Given the description of an element on the screen output the (x, y) to click on. 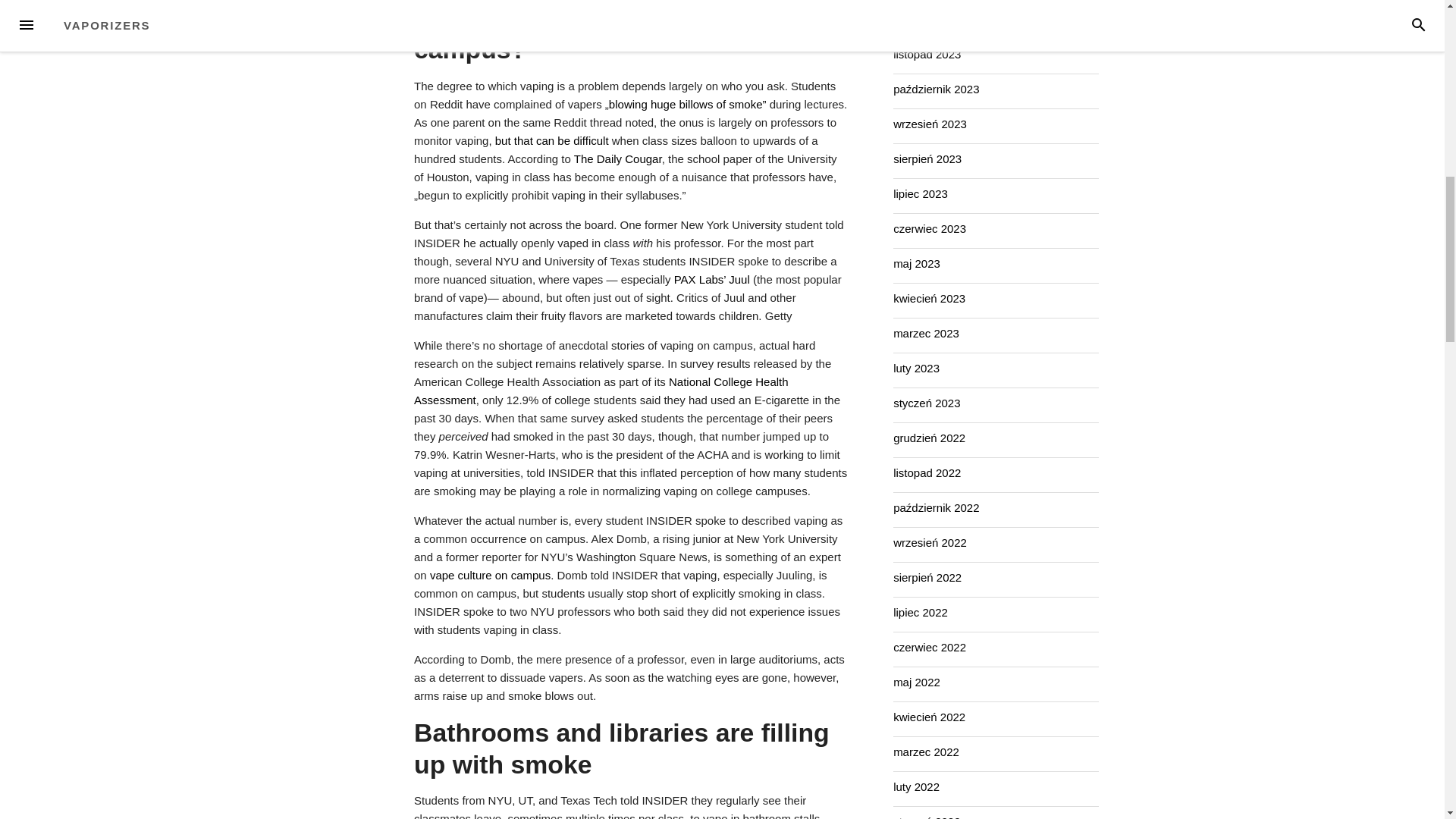
The Daily Cougar (617, 158)
but that can be difficult (551, 140)
National College Health Assessment (601, 390)
vape culture on campus (489, 574)
